Given the description of an element on the screen output the (x, y) to click on. 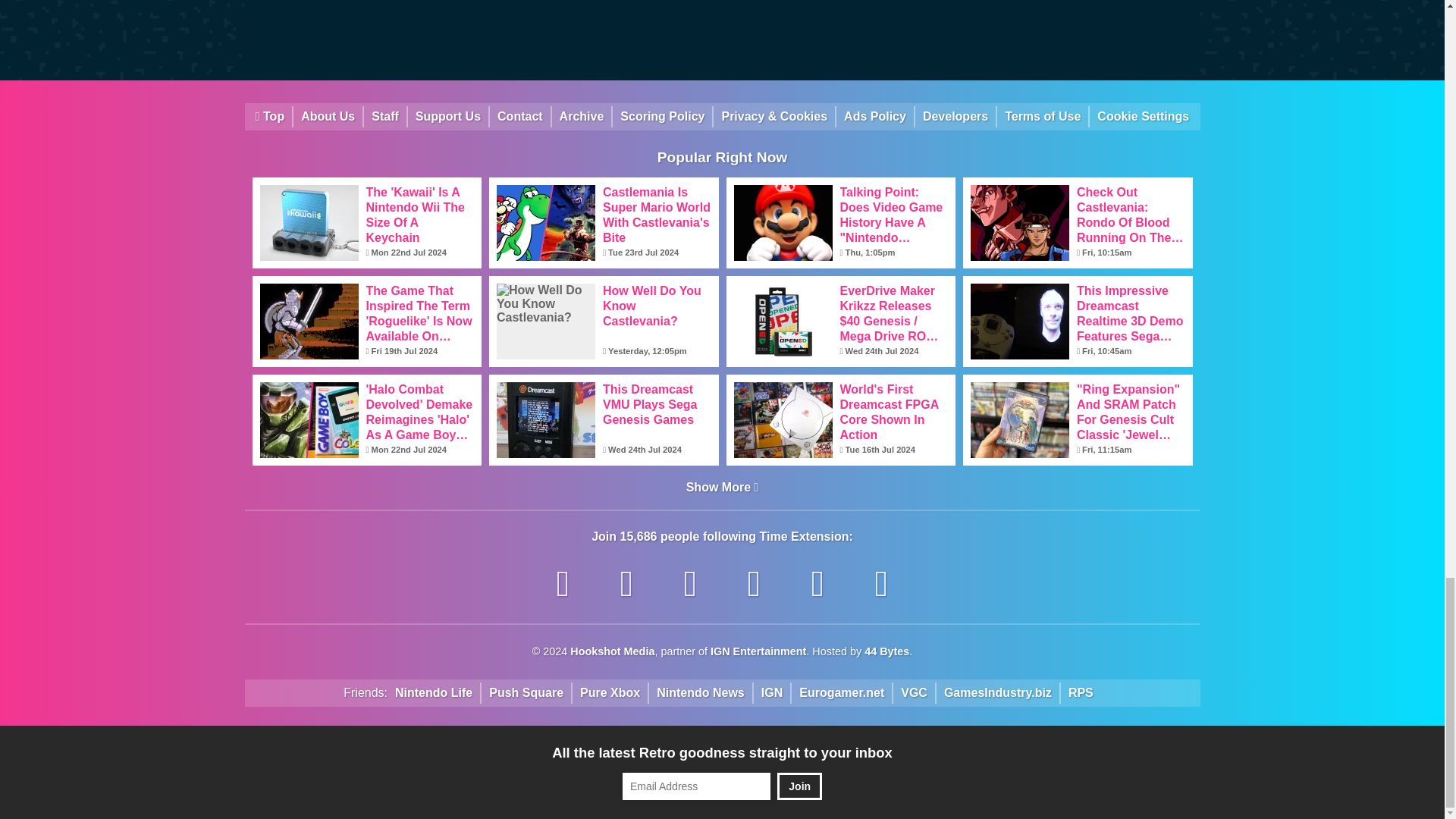
Join (799, 786)
